Given the description of an element on the screen output the (x, y) to click on. 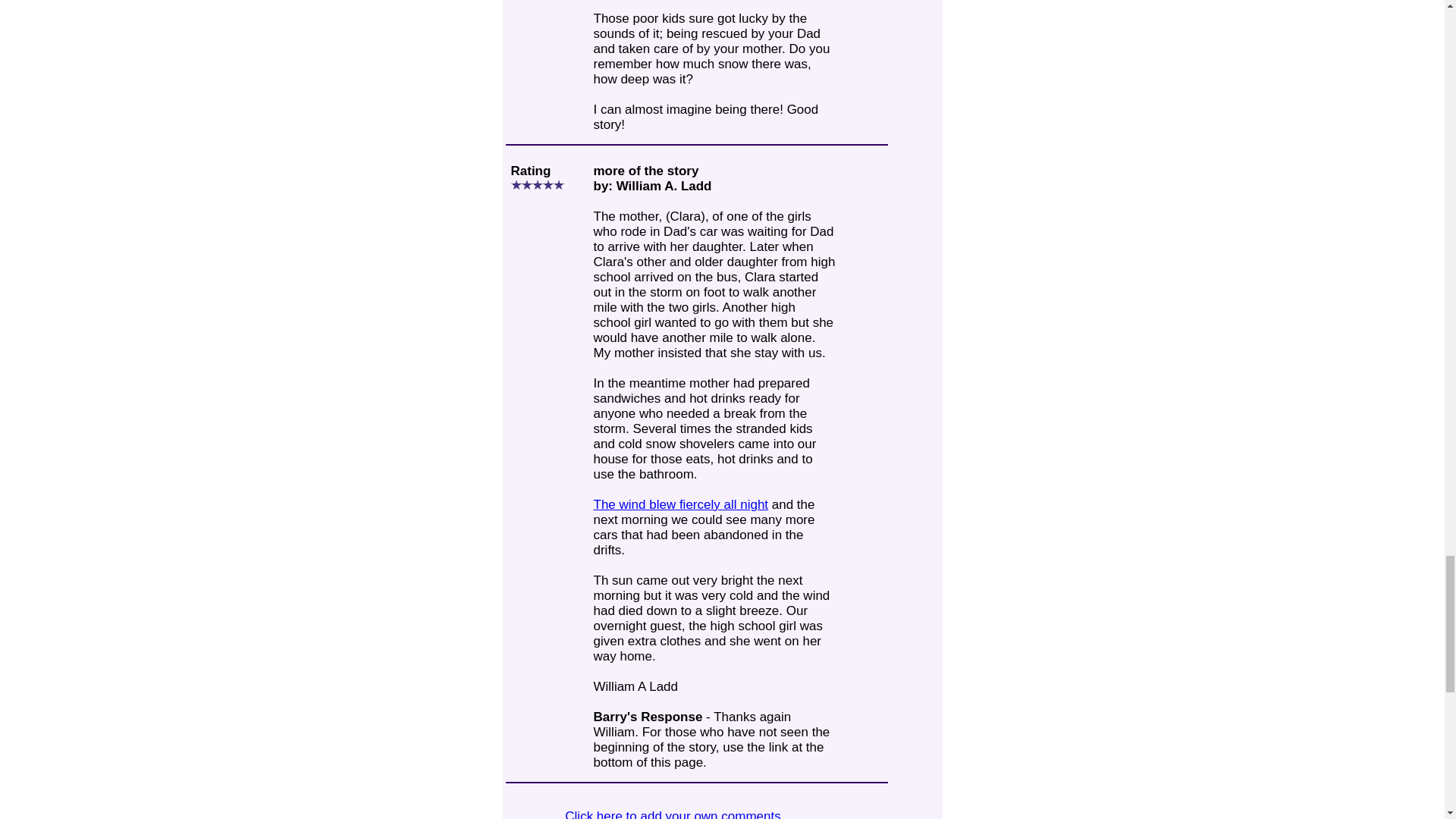
Click here to add your own comments (672, 814)
The wind blew fiercely all night (680, 504)
